Given the description of an element on the screen output the (x, y) to click on. 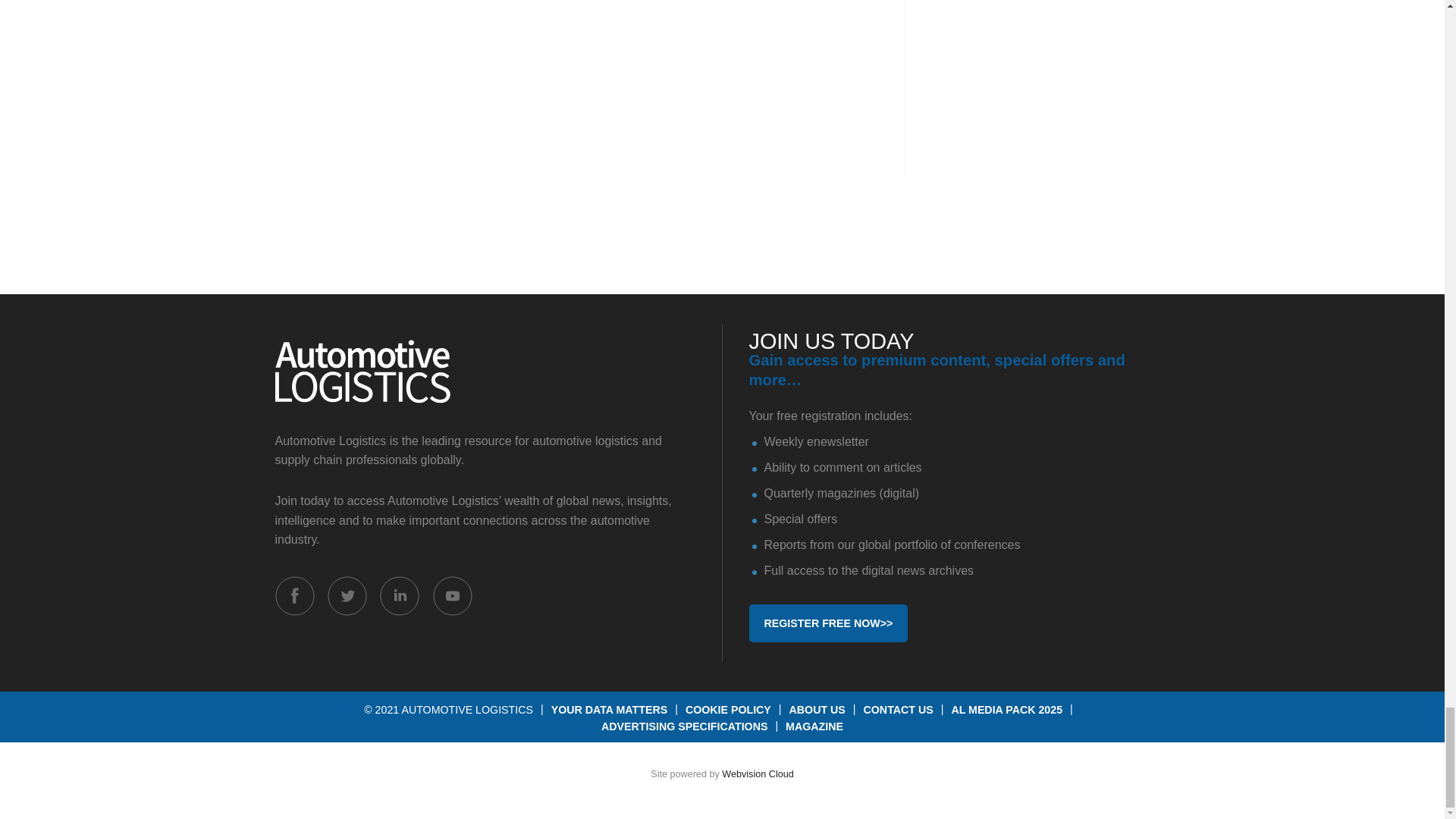
Connect with us on Twitter (346, 595)
Connect with us on Youtube (451, 595)
Connect with us on Facebook (294, 595)
Connect with us on Linked In (399, 595)
